Given the description of an element on the screen output the (x, y) to click on. 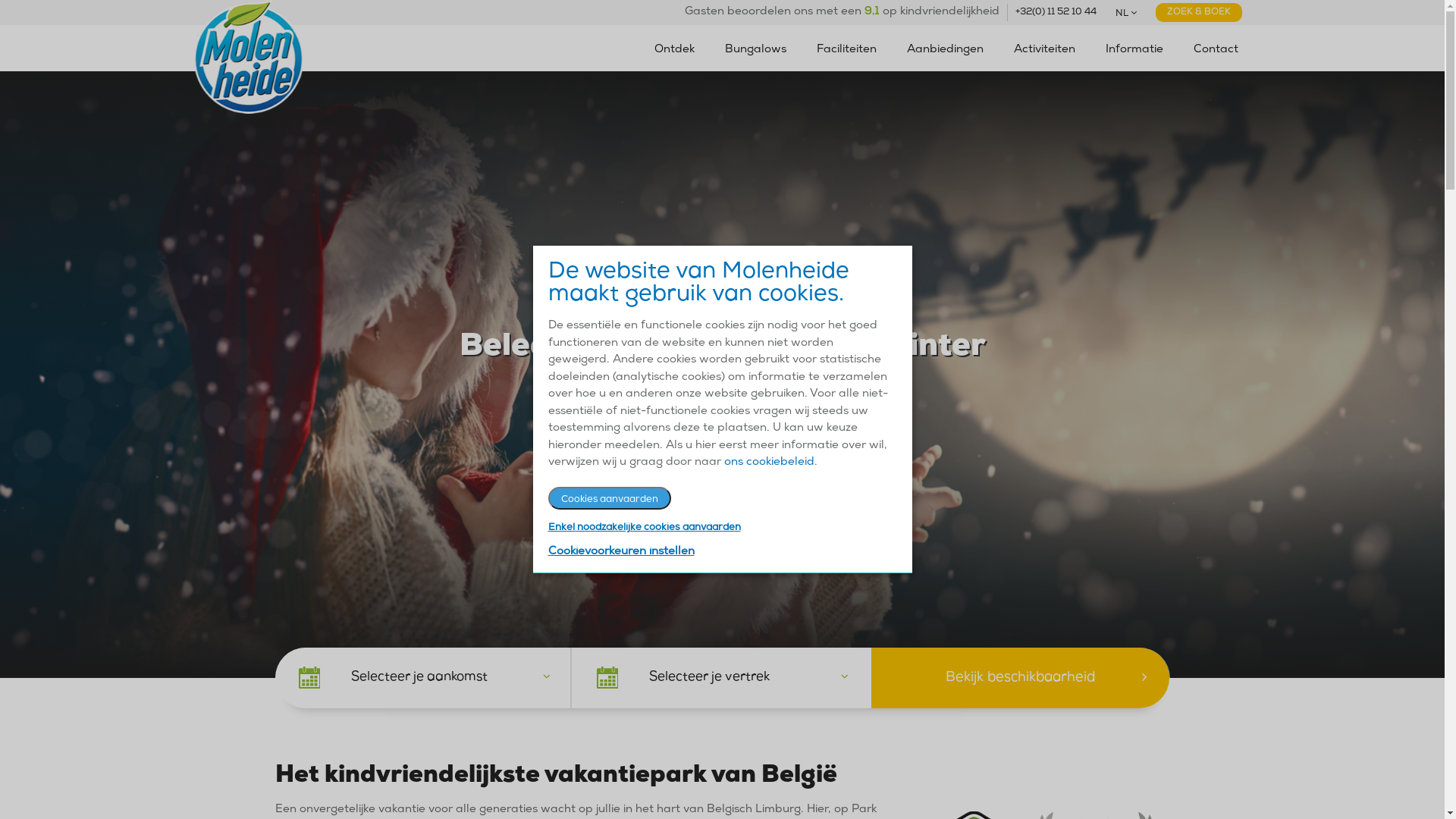
Informatie Element type: text (1134, 49)
Aanbiedingen Element type: text (944, 49)
ons cookiebeleid Element type: text (768, 461)
Cookies aanvaarden Element type: text (608, 497)
Vind jullie Kerstvakantie Element type: text (721, 429)
Activiteiten Element type: text (1043, 49)
ZOEK & BOEK Element type: text (1198, 12)
Contact Element type: text (1215, 49)
Ontdek Element type: text (673, 49)
Cookievoorkeuren instellen Element type: text (620, 551)
Bungalows Element type: text (755, 49)
Faciliteiten Element type: text (845, 49)
+32(0) 11 52 10 44 Element type: text (1054, 12)
Enkel noodzakelijke cookies aanvaarden Element type: text (643, 527)
Bekijk beschikbaarheid Element type: text (1020, 677)
